Given the description of an element on the screen output the (x, y) to click on. 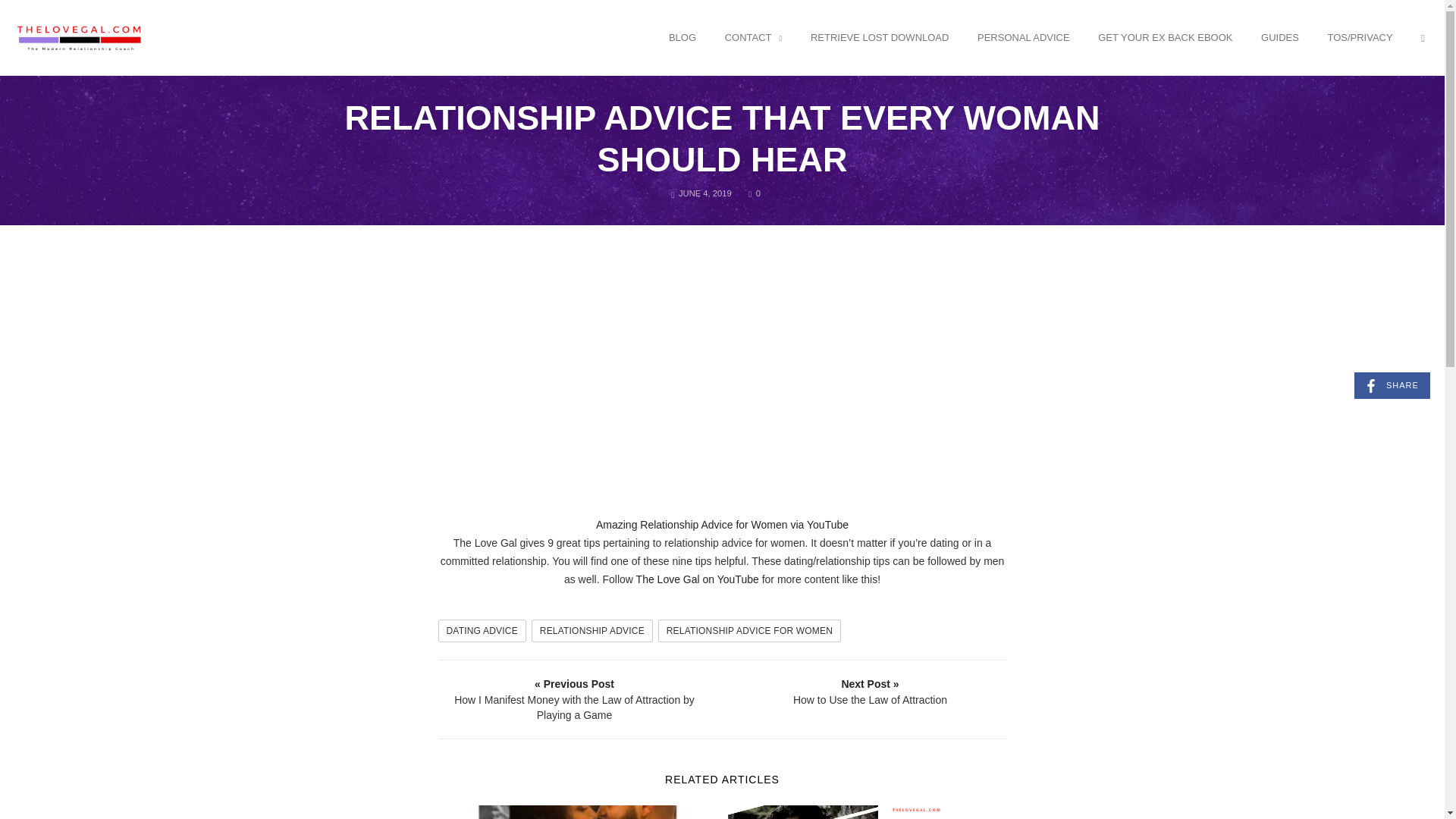
CONTACT (753, 38)
RELATIONSHIP ADVICE FOR WOMEN (749, 630)
RETRIEVE LOST DOWNLOAD (880, 37)
relationship advice Tag (591, 630)
RELATIONSHIP ADVICE (591, 630)
GUIDES (1279, 37)
The Solution to Making Your Ex Fall In Love With You Again (577, 812)
How to Get Your Ex Back (80, 37)
PERSONAL ADVICE (1023, 37)
